Given the description of an element on the screen output the (x, y) to click on. 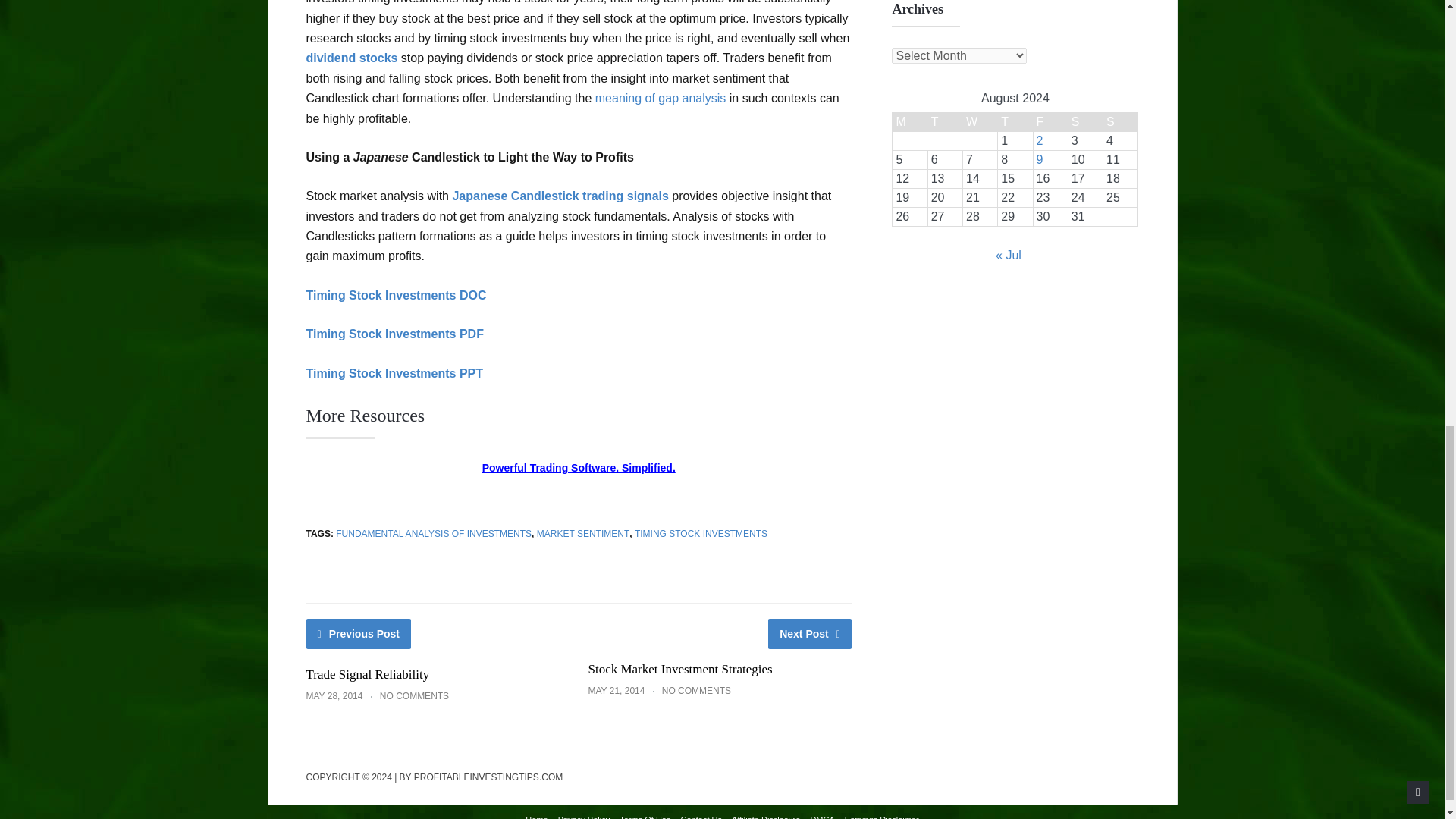
Sunday (1120, 122)
FUNDAMENTAL ANALYSIS OF INVESTMENTS (433, 533)
Japanese Candlestick trading signals (559, 195)
Wednesday (979, 122)
Trade Signal Reliability (367, 674)
Timing Stock Investments PPT (394, 373)
Previous Post (358, 634)
Timing Stock Investments DOC (395, 295)
Tuesday (944, 122)
dividend stocks (351, 57)
